Given the description of an element on the screen output the (x, y) to click on. 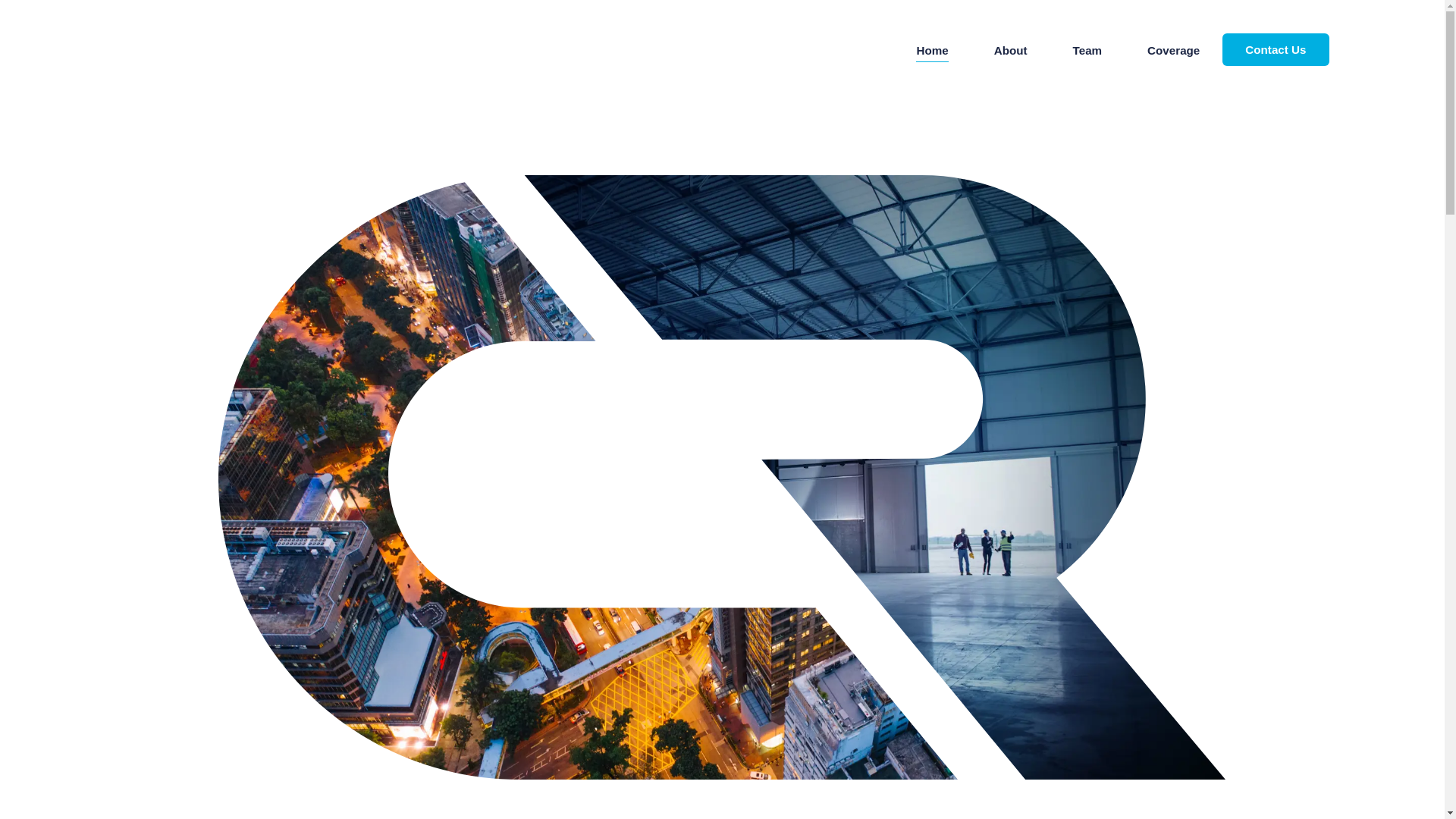
Coverage (1173, 50)
Home (931, 50)
Team (1087, 50)
CR Asset Management home page (199, 49)
Contact Us (1275, 49)
About (1010, 50)
